Given the description of an element on the screen output the (x, y) to click on. 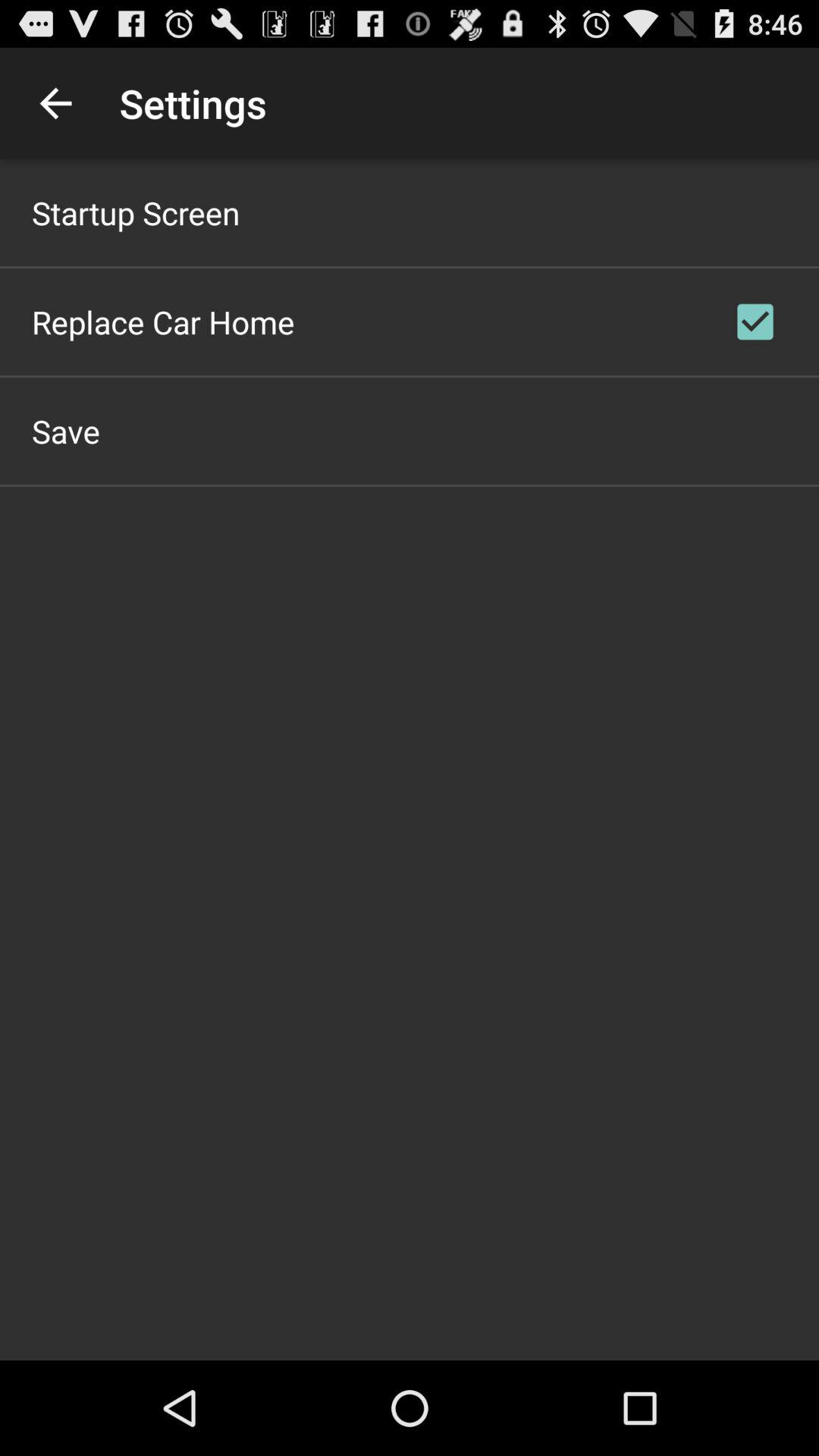
click replace car home app (162, 321)
